Given the description of an element on the screen output the (x, y) to click on. 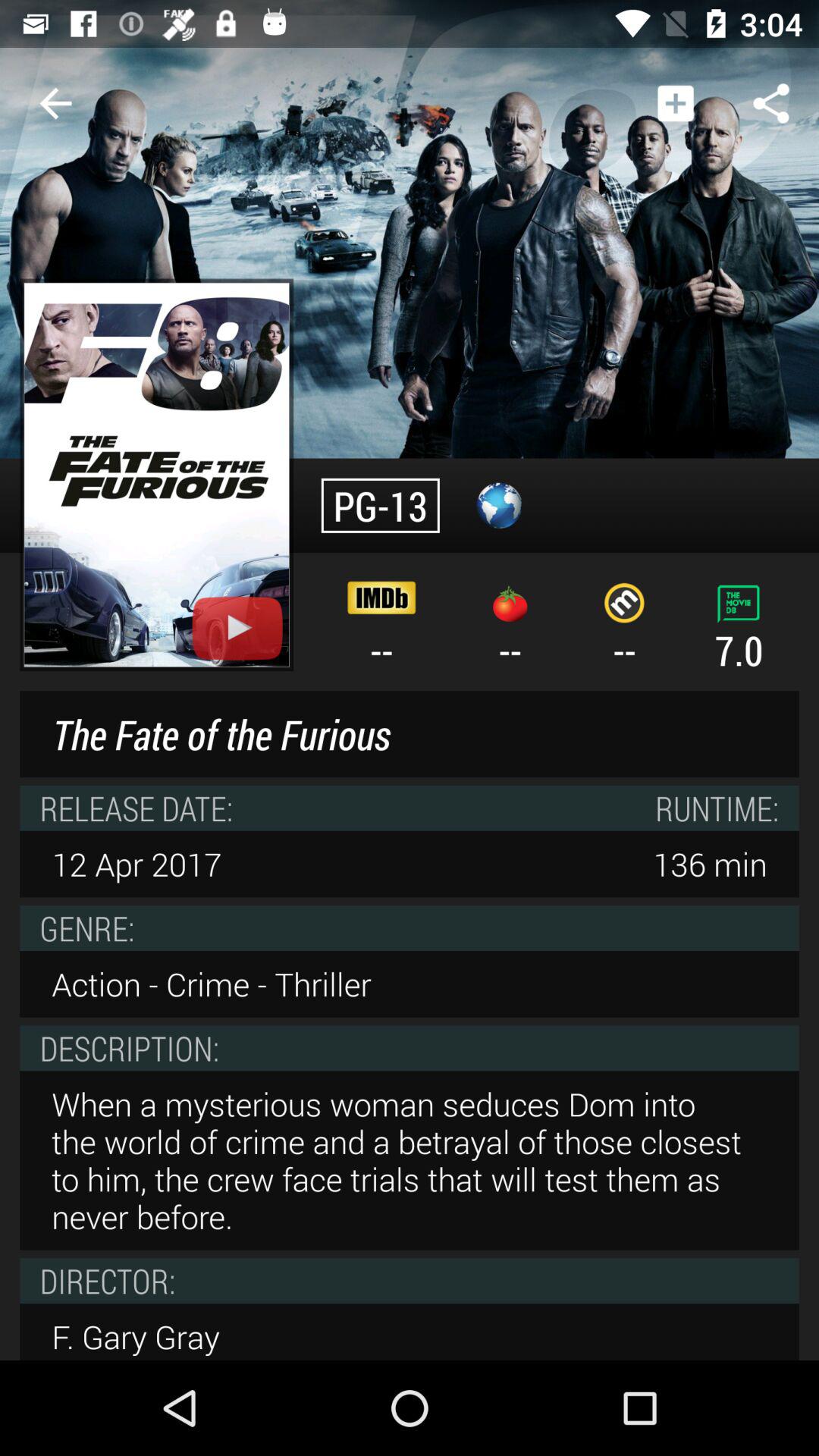
click the item next to the -- (156, 474)
